Given the description of an element on the screen output the (x, y) to click on. 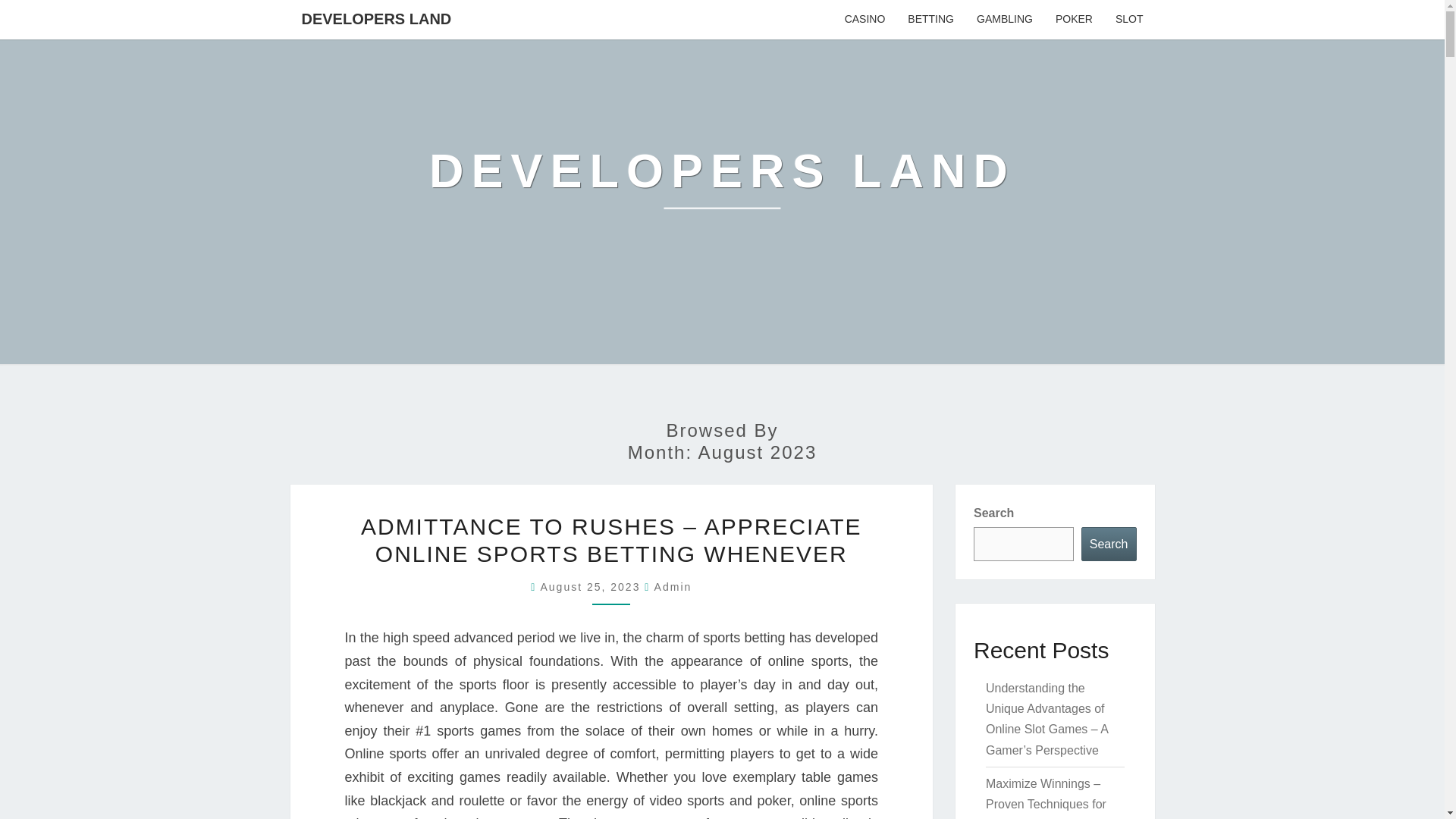
GAMBLING (1004, 19)
Admin (673, 586)
9:40 am (592, 586)
Developers Land (721, 181)
DEVELOPERS LAND (376, 18)
CASINO (864, 19)
SLOT (1128, 19)
BETTING (930, 19)
View all posts by admin (673, 586)
POKER (1073, 19)
DEVELOPERS LAND (721, 181)
August 25, 2023 (592, 586)
